Given the description of an element on the screen output the (x, y) to click on. 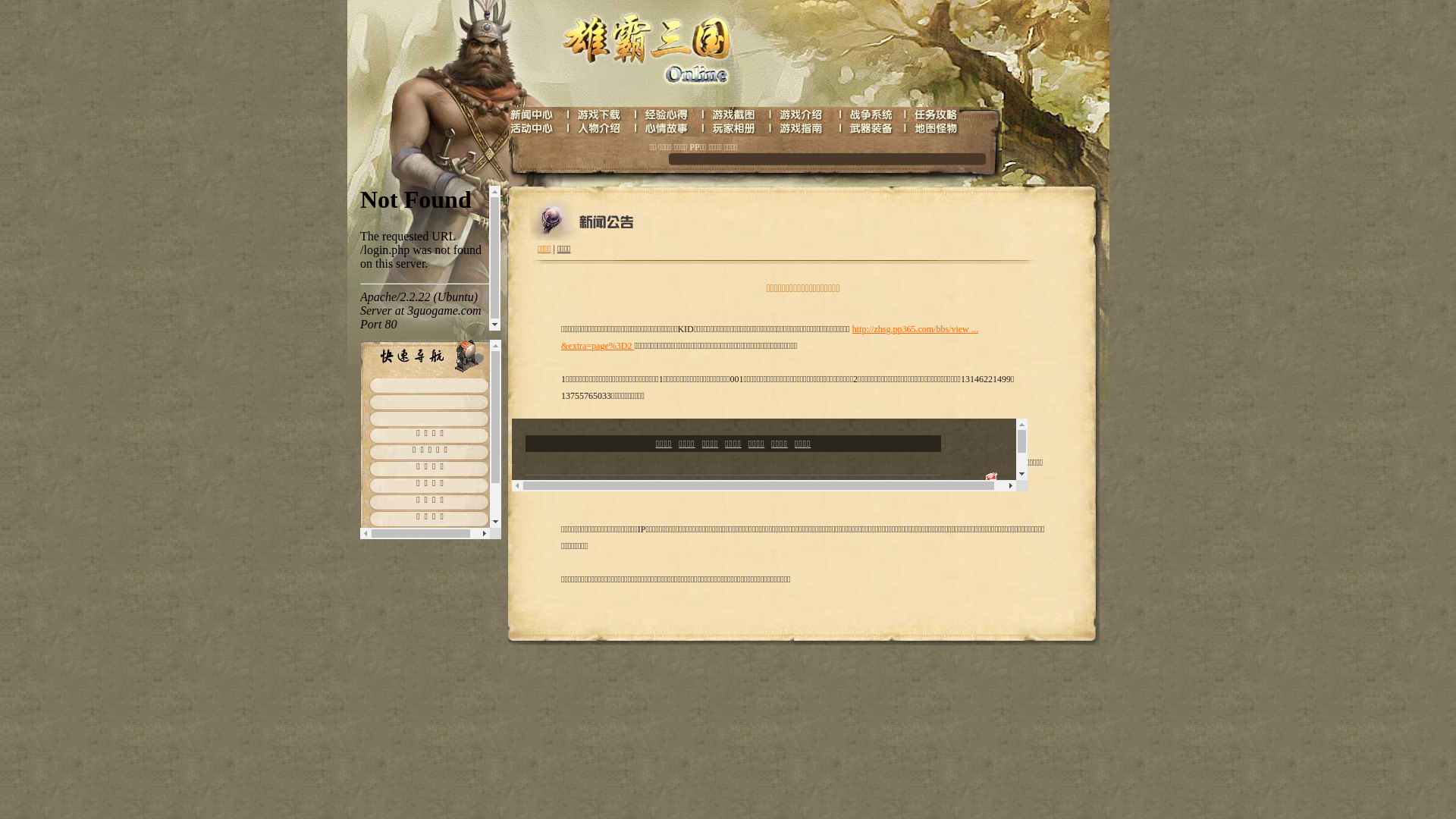
http://www.360safe.com/ Element type: text (912, 462)
http://zhsg.pp365.com/bbs/view ... &extra=page%3D2 Element type: text (769, 337)
